Given the description of an element on the screen output the (x, y) to click on. 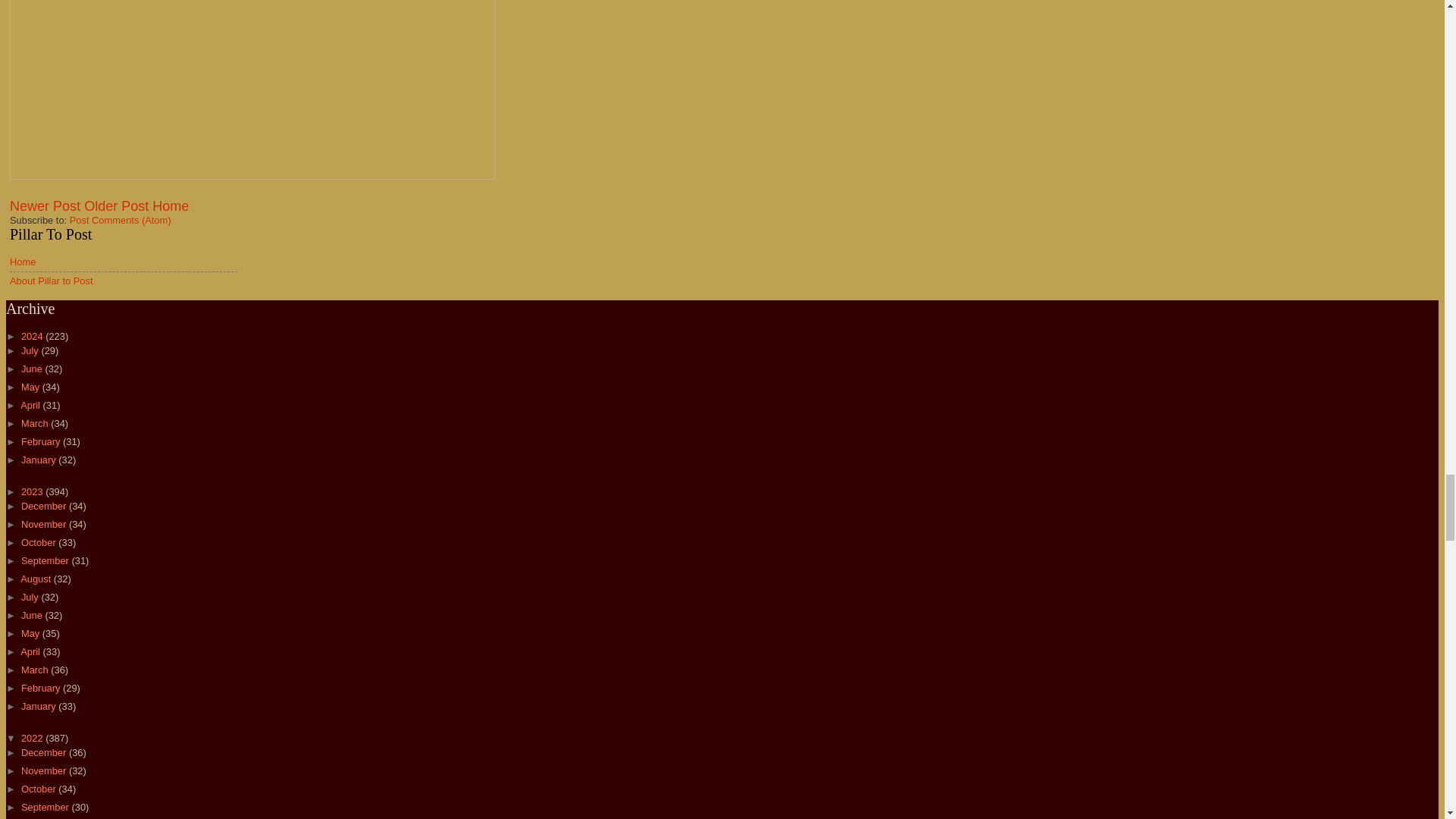
Older Post (116, 206)
February (41, 441)
About Pillar to Post (51, 280)
May (31, 387)
July (30, 350)
2024 (33, 336)
March (35, 423)
Newer Post (45, 206)
Newer Post (45, 206)
2023 (33, 491)
June (33, 368)
Home (22, 261)
Home (170, 206)
April (31, 405)
January (39, 460)
